Given the description of an element on the screen output the (x, y) to click on. 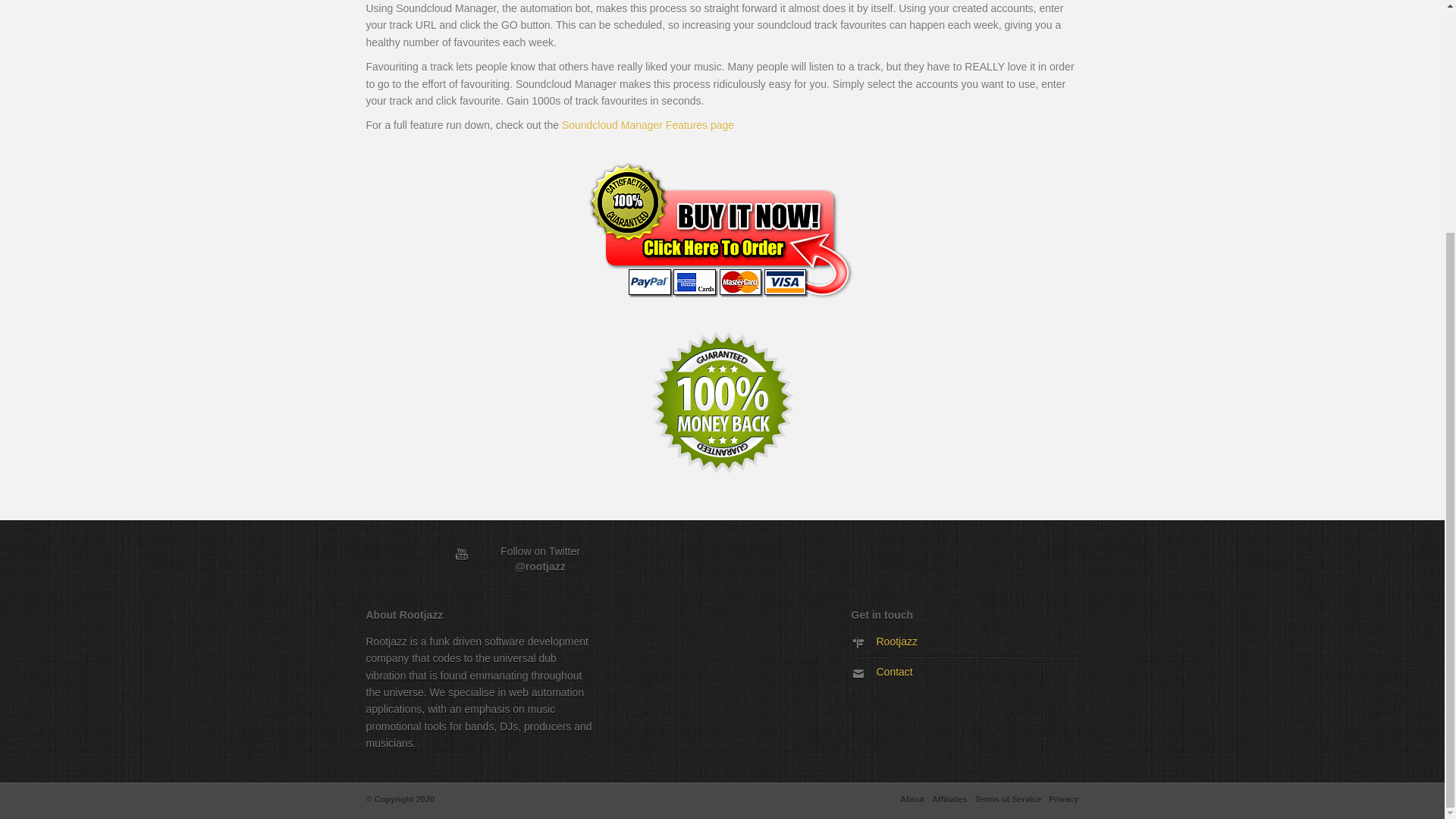
Rootjazz (896, 641)
Soundcloud Manager Features page (647, 124)
Privacy (1063, 798)
Affiliates (948, 798)
Contact (894, 671)
Terms of Service (1008, 798)
About (911, 798)
